Given the description of an element on the screen output the (x, y) to click on. 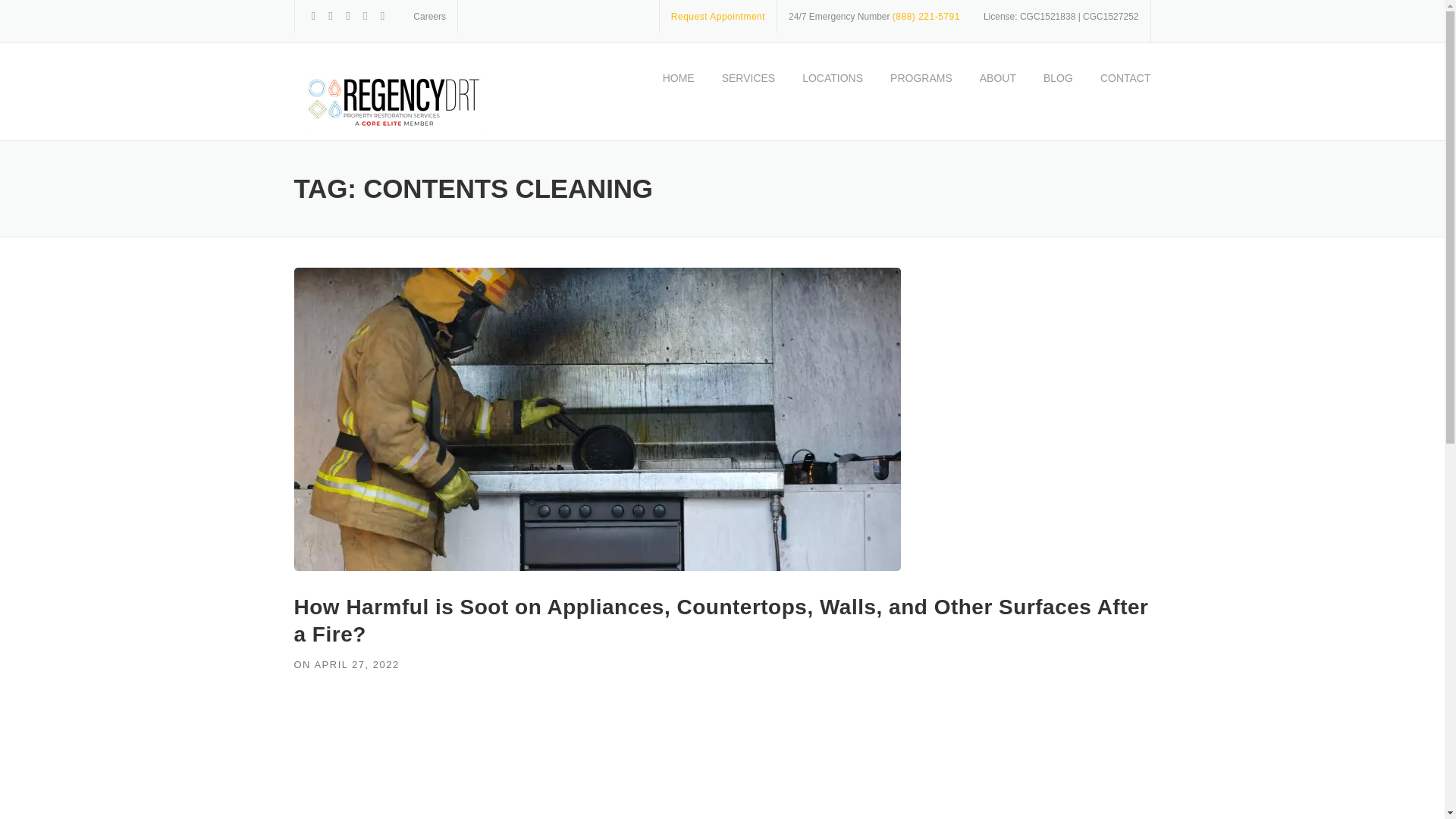
CGC1521838 (1047, 16)
LOCATIONS (832, 91)
HOME (678, 91)
Regency Disaster Response Team (391, 101)
CGC1527252 (1110, 16)
Careers (429, 16)
Request Appointment (718, 16)
SERVICES (748, 91)
